Given the description of an element on the screen output the (x, y) to click on. 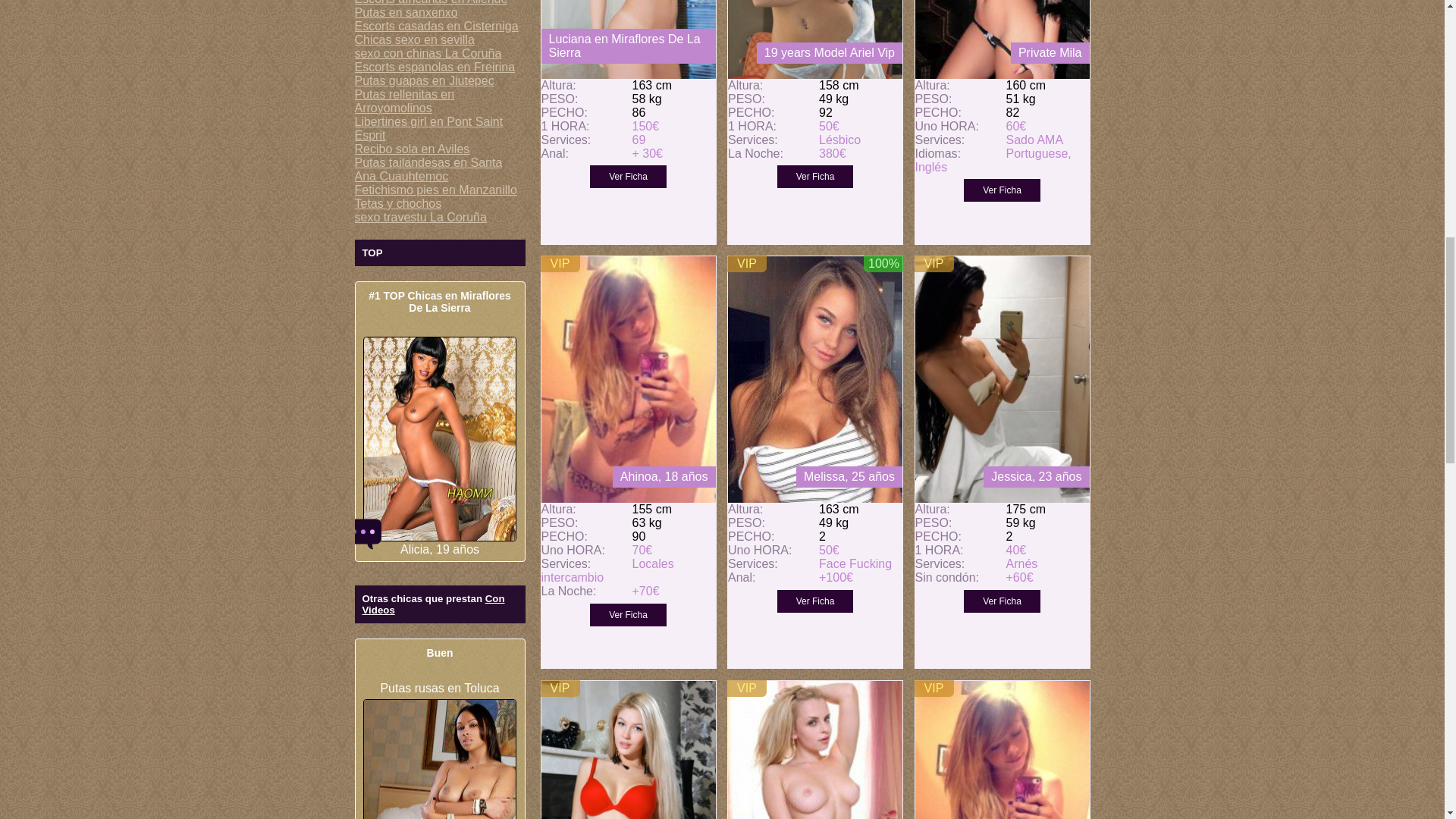
Fetichismo pies en Manzanillo (435, 189)
One of the best profiles (746, 263)
Putas guapas en Jiutepec (425, 80)
Ver Ficha (815, 600)
One of the best profiles (559, 263)
Recibo sola en Aviles (412, 148)
Ver Ficha (1002, 600)
Photos have been verified (882, 263)
Putas en sanxenxo (406, 11)
One of the best profiles (746, 687)
